Given the description of an element on the screen output the (x, y) to click on. 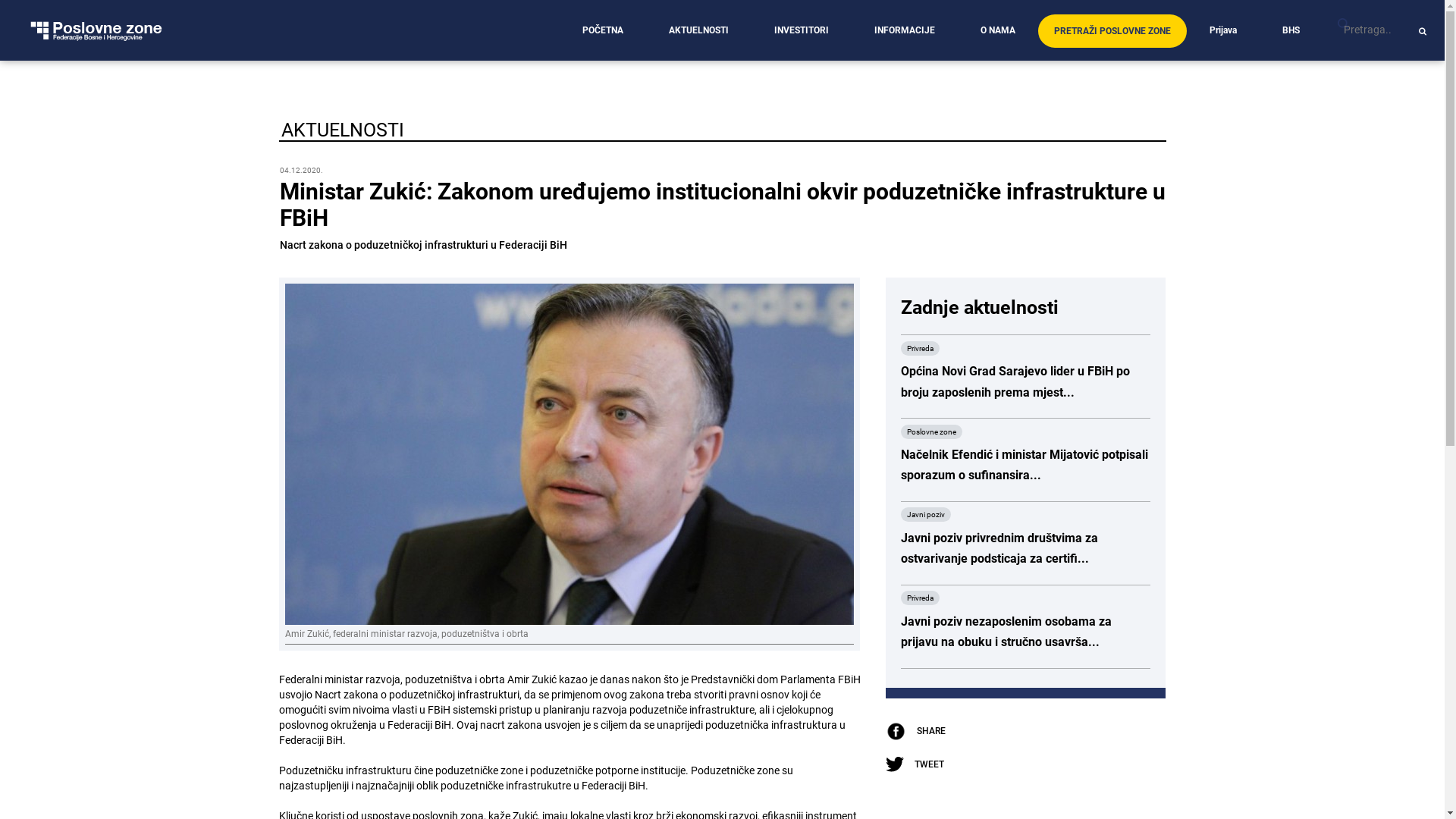
BHS Element type: text (1290, 30)
O NAMA Element type: text (997, 30)
AKTUELNOSTI Element type: text (698, 30)
INFORMACIJE Element type: text (904, 30)
AKTUELNOSTI Element type: text (342, 129)
Prijava Element type: text (1222, 30)
TWEET Element type: text (914, 763)
SHARE Element type: text (915, 730)
INVESTITORI Element type: text (801, 30)
